Given the description of an element on the screen output the (x, y) to click on. 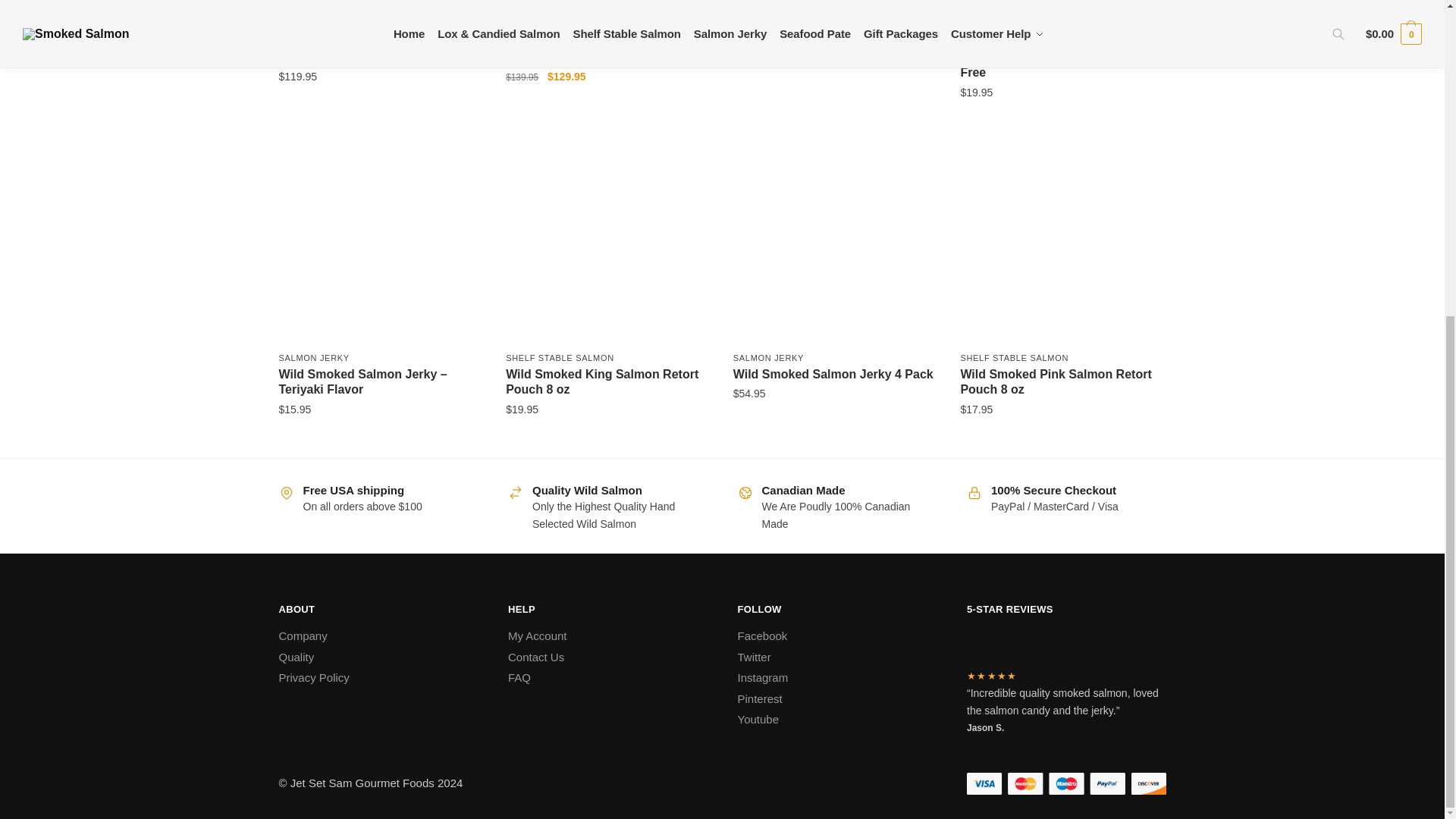
Wild Smoked King Salmon Retort Pouch 8 oz (607, 242)
Create Your Own Smoked Salmon Bundle (607, 6)
Wild Smoked Pink Salmon Retort Pouch 8 oz (1061, 242)
Wild Smoked Salmon Jerky 4 Pack (835, 242)
Salmon Lovers Shelf Stable Salmon Gift Package (381, 6)
